Given the description of an element on the screen output the (x, y) to click on. 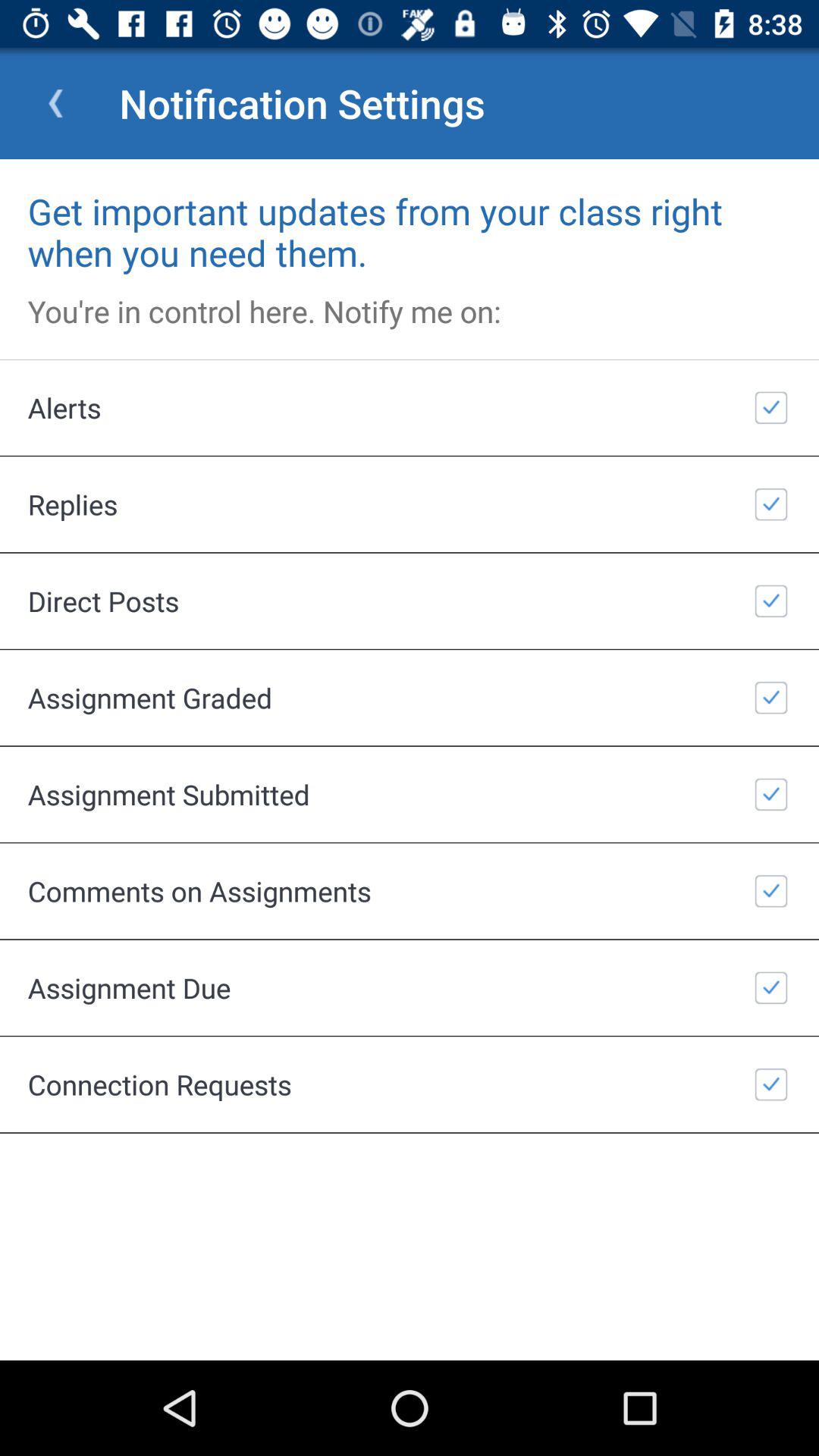
choose the replies item (409, 504)
